Given the description of an element on the screen output the (x, y) to click on. 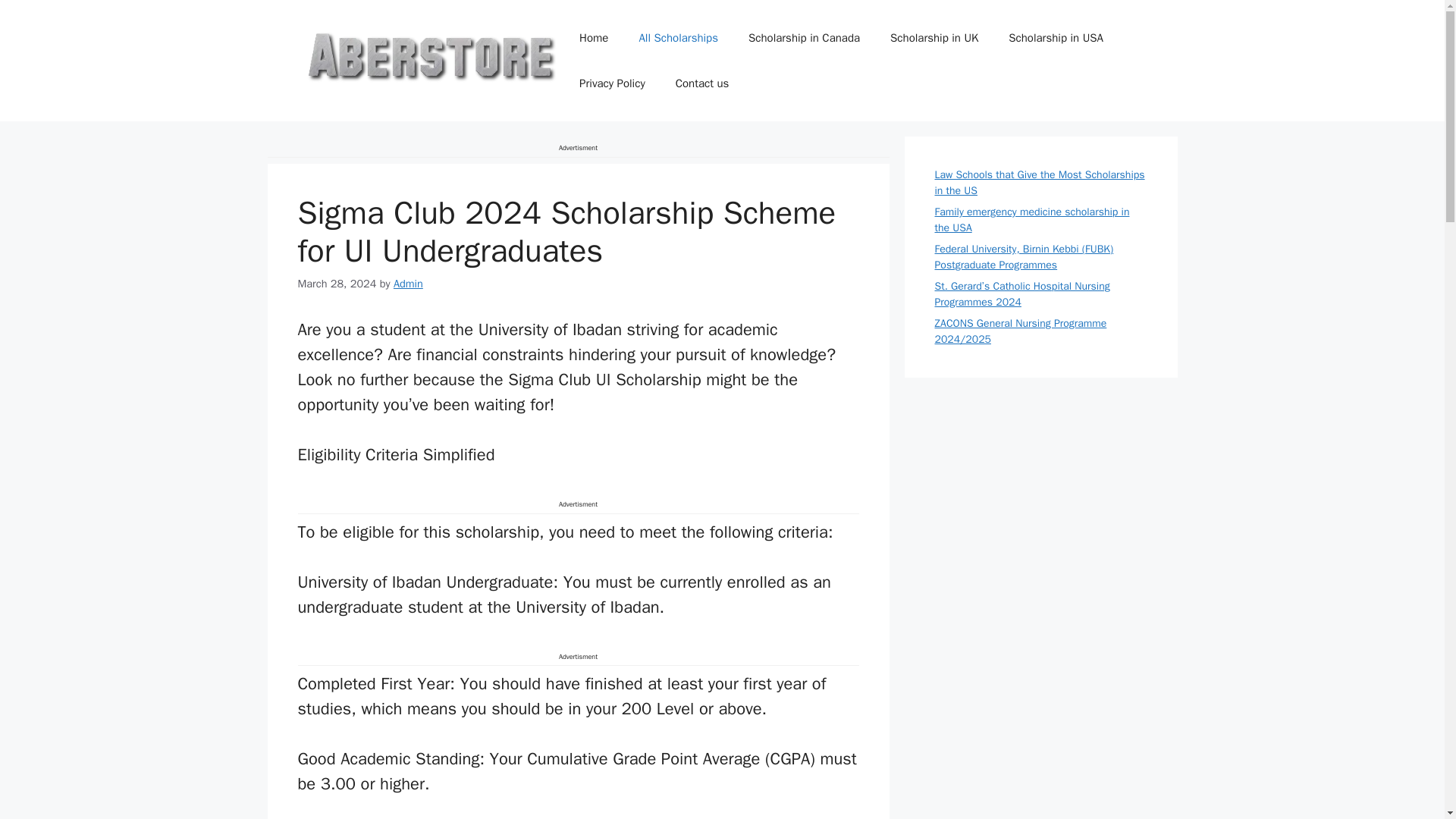
All Scholarships (678, 37)
Law Schools that Give the Most Scholarships in the US (1039, 182)
Scholarship in Canada (804, 37)
Family emergency medicine scholarship in the USA (1031, 219)
Scholarship in USA (1055, 37)
Privacy Policy (612, 83)
Scholarship in UK (933, 37)
Contact us (702, 83)
Home (593, 37)
Admin (408, 282)
